Given the description of an element on the screen output the (x, y) to click on. 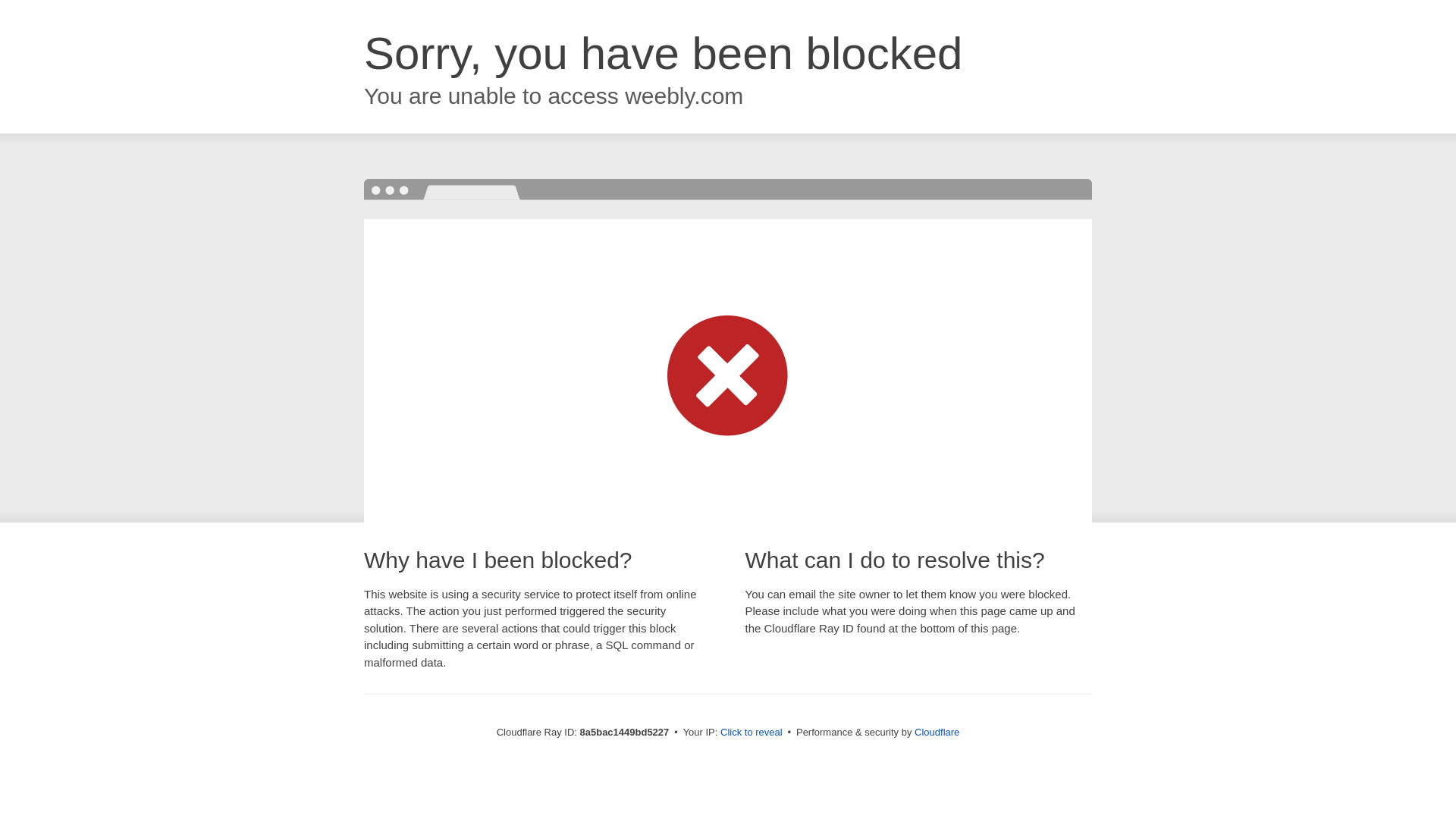
Click to reveal (751, 732)
Cloudflare (936, 731)
